Given the description of an element on the screen output the (x, y) to click on. 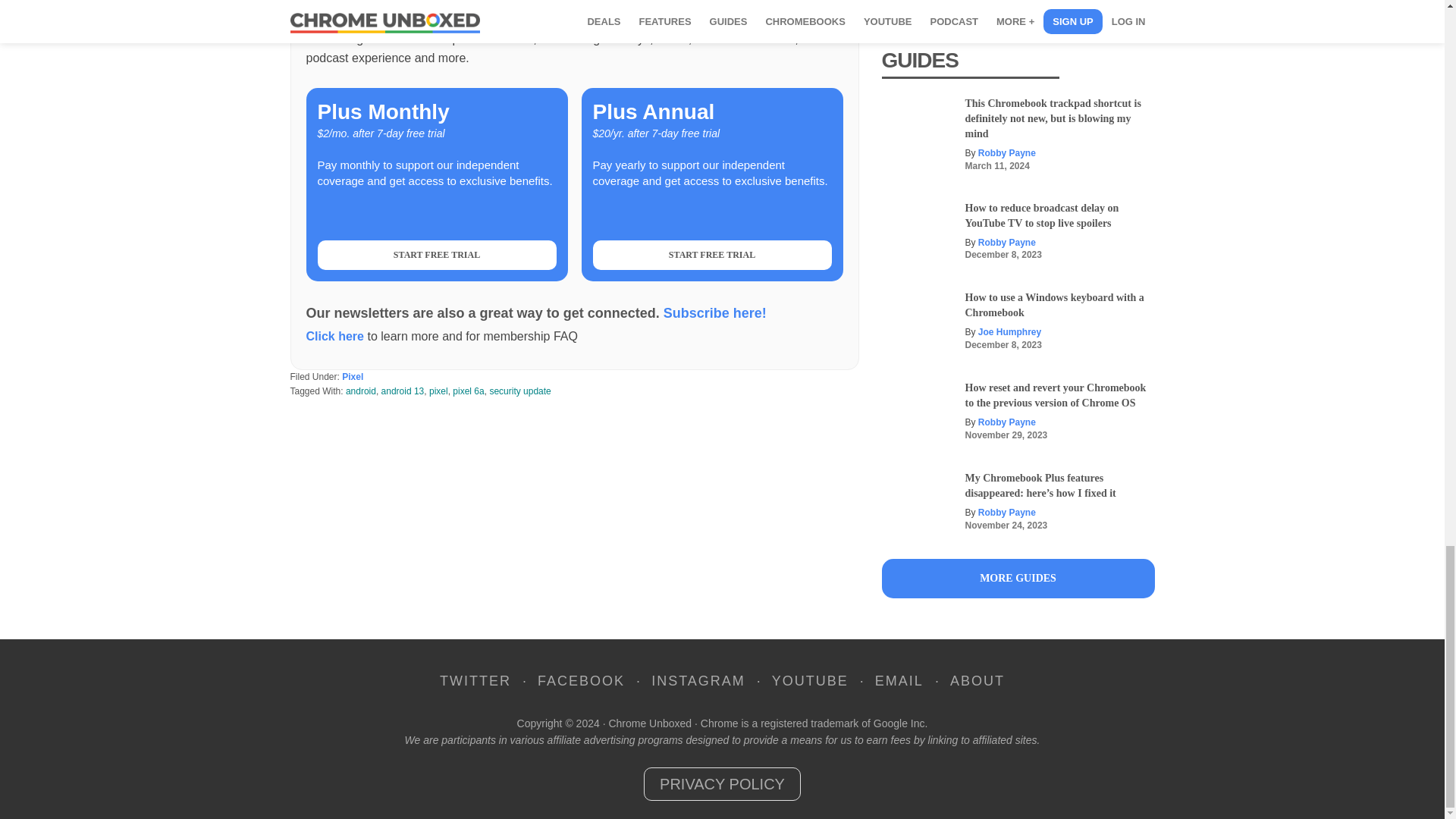
Guides and How-To's (1017, 578)
